Given the description of an element on the screen output the (x, y) to click on. 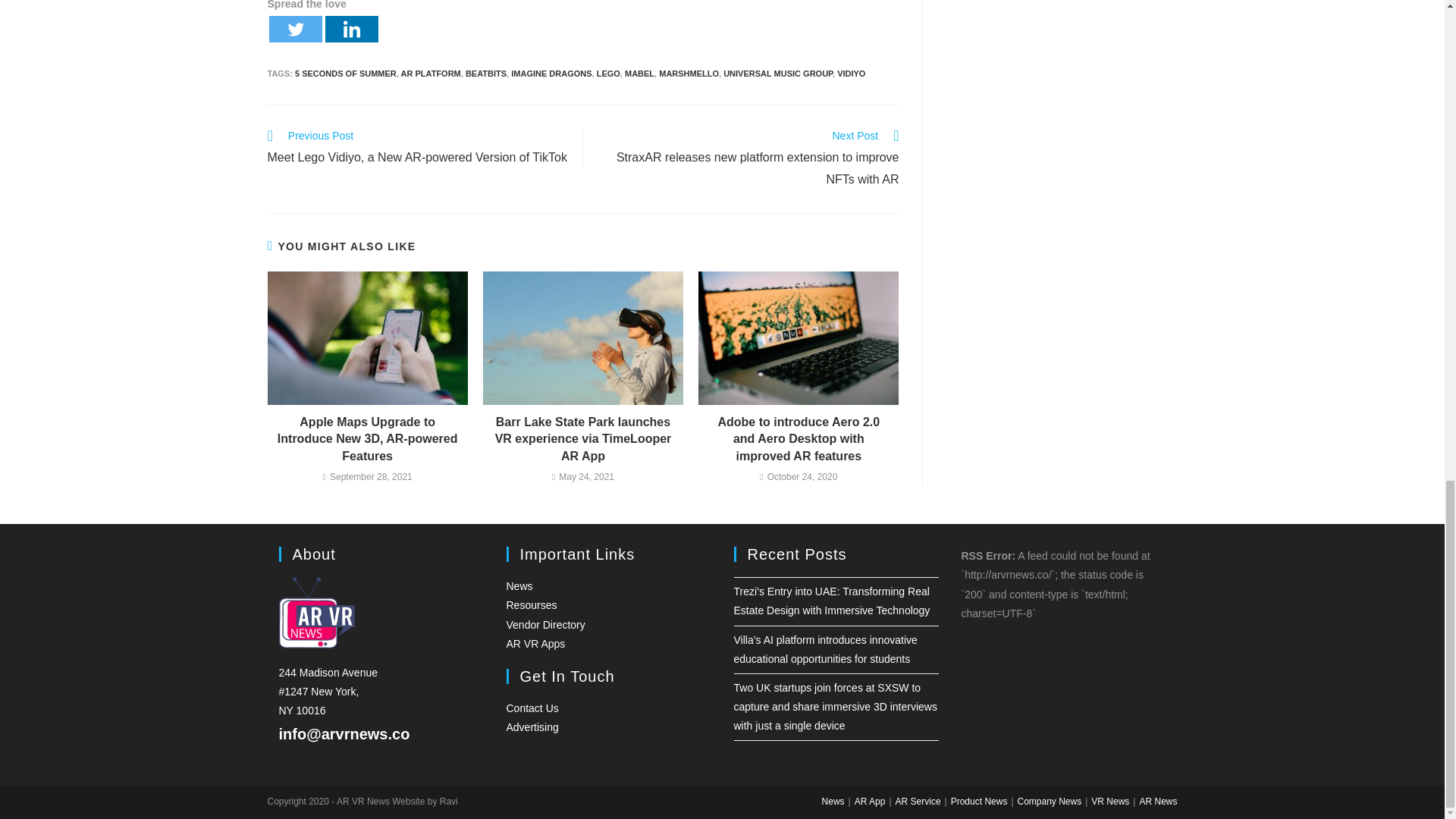
MARSHMELLO (689, 72)
5 SECONDS OF SUMMER (345, 72)
Apple Maps Upgrade to Introduce New 3D, AR-powered Features (367, 439)
Apple Maps Upgrade to Introduce New 3D, AR-powered Features (367, 439)
IMAGINE DRAGONS (551, 72)
LEGO (608, 72)
VIDIYO (850, 72)
Twitter (294, 28)
MABEL (638, 72)
AR PLATFORM (431, 72)
UNIVERSAL MUSIC GROUP (777, 72)
